Given the description of an element on the screen output the (x, y) to click on. 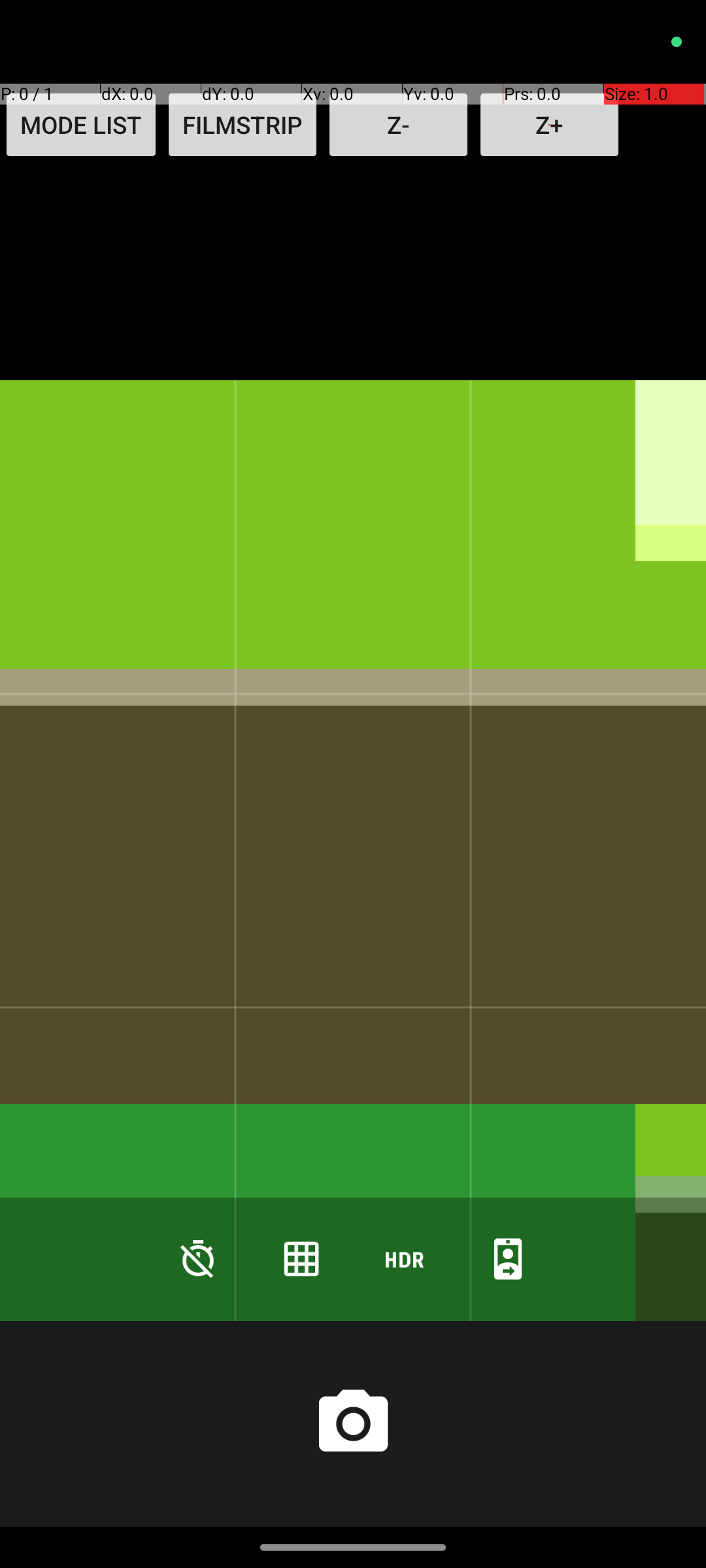
HDR on Element type: android.widget.ImageButton (404, 1258)
Front camera Element type: android.widget.ImageButton (507, 1258)
